Given the description of an element on the screen output the (x, y) to click on. 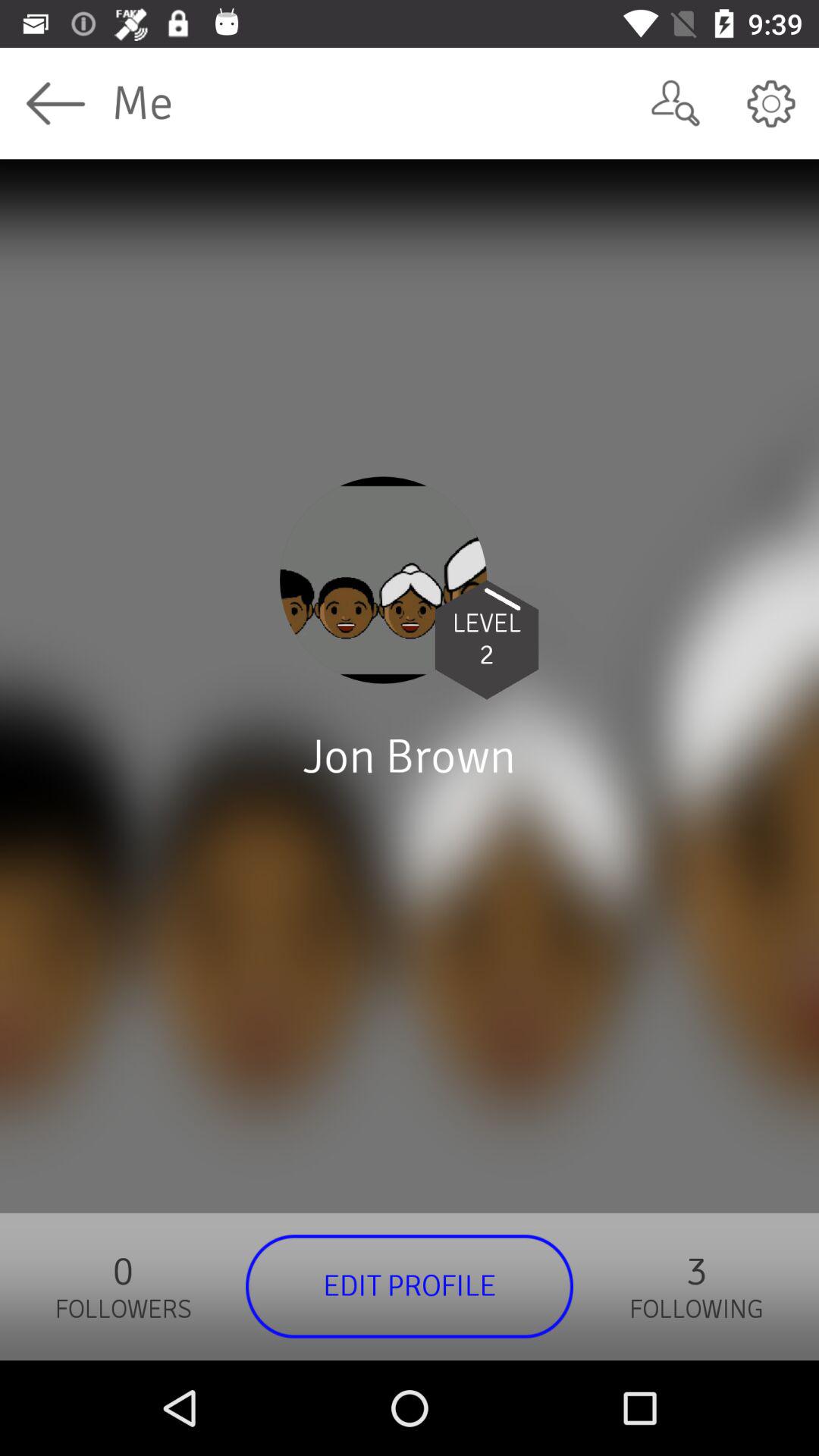
choose app next to the me icon (675, 103)
